Given the description of an element on the screen output the (x, y) to click on. 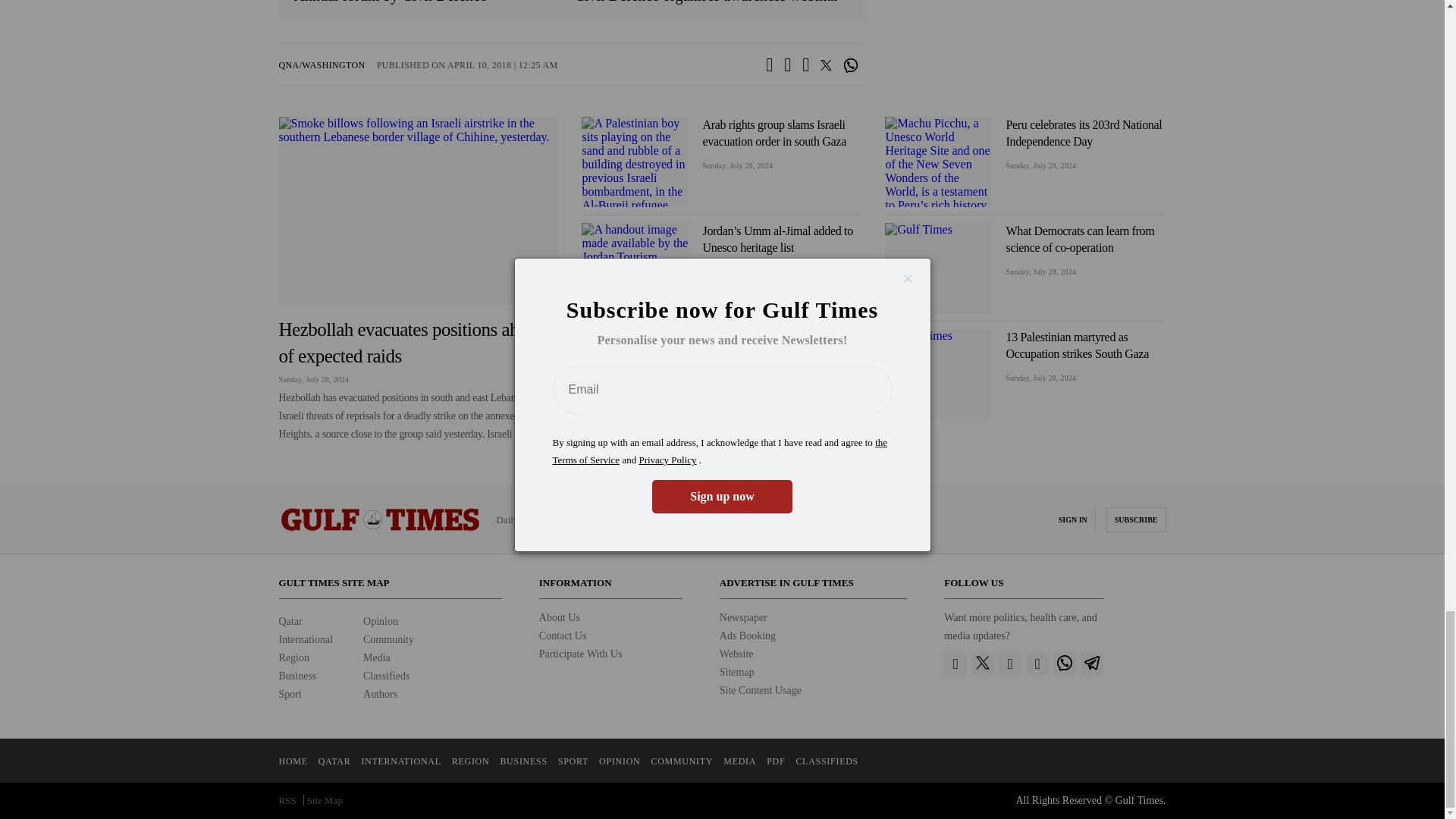
Civil Defence organises awareness webinar (711, 2)
Annual forum by Civil Defence (430, 2)
